Given the description of an element on the screen output the (x, y) to click on. 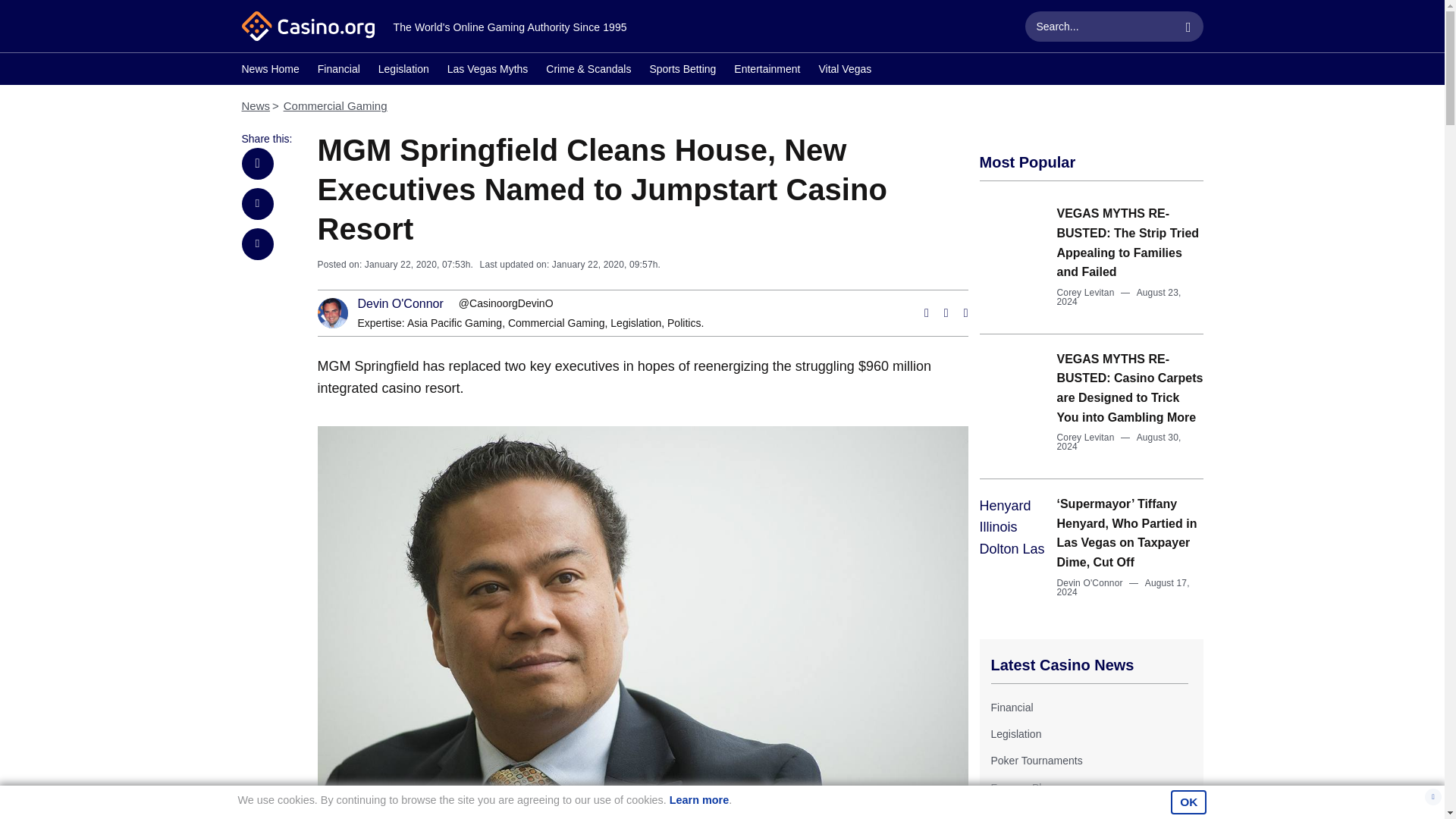
Las Vegas Myths (487, 70)
Corey Levitan (1086, 437)
Commercial Gaming (335, 105)
Devin O'Connor (401, 304)
Vital Vegas (845, 70)
Financial (338, 70)
Legislation (1015, 734)
Famous Players (1028, 787)
Sports (1005, 813)
News (255, 105)
